Given the description of an element on the screen output the (x, y) to click on. 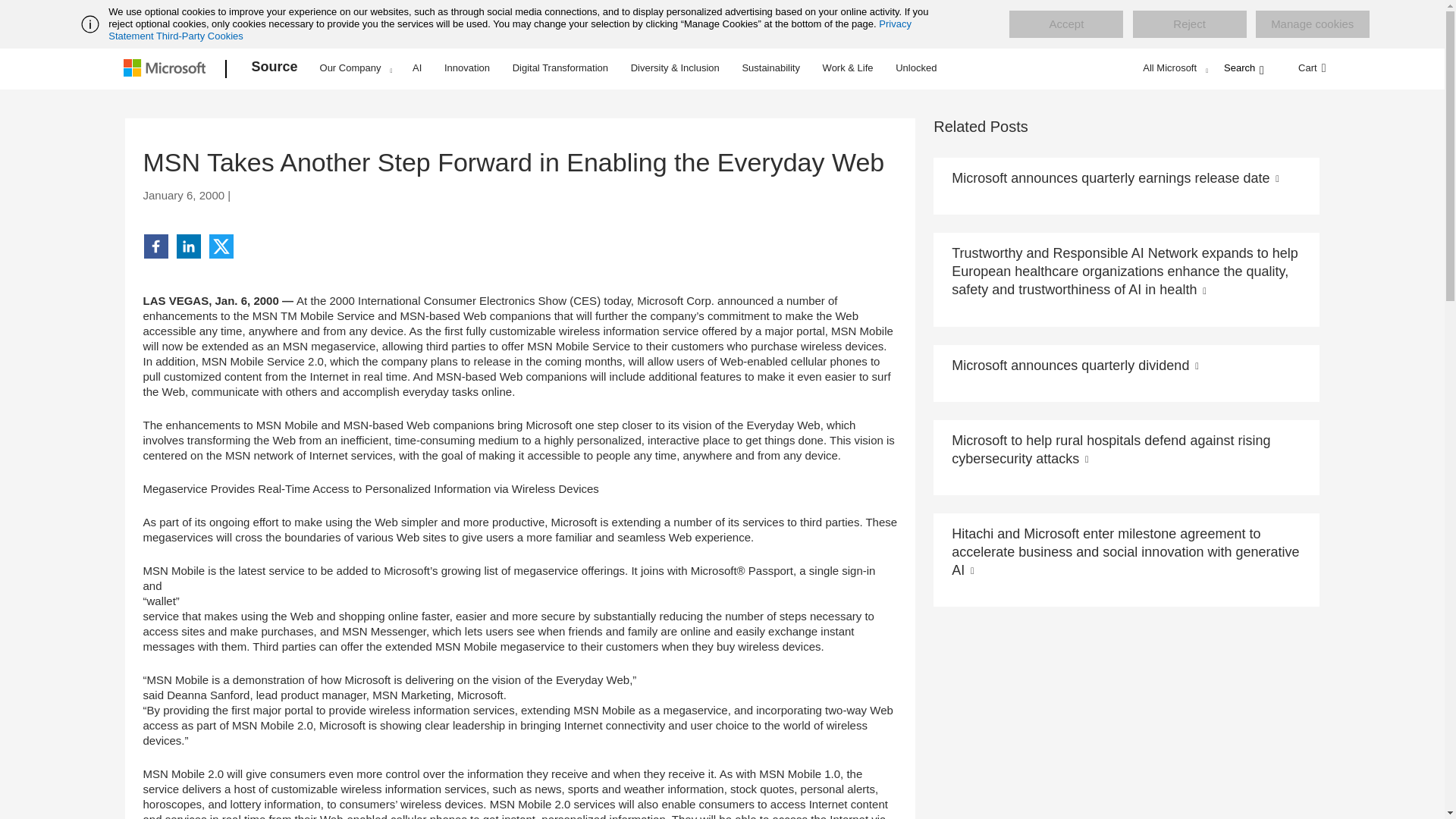
Privacy Statement (509, 29)
Digital Transformation (559, 67)
Our Company (355, 67)
All Microsoft (1173, 67)
Microsoft (167, 69)
Reject (1189, 23)
Accept (1065, 23)
Source (274, 69)
Unlocked (915, 67)
Sustainability (770, 67)
Third-Party Cookies (199, 35)
AI (417, 67)
Innovation (467, 67)
Manage cookies (1312, 23)
